Given the description of an element on the screen output the (x, y) to click on. 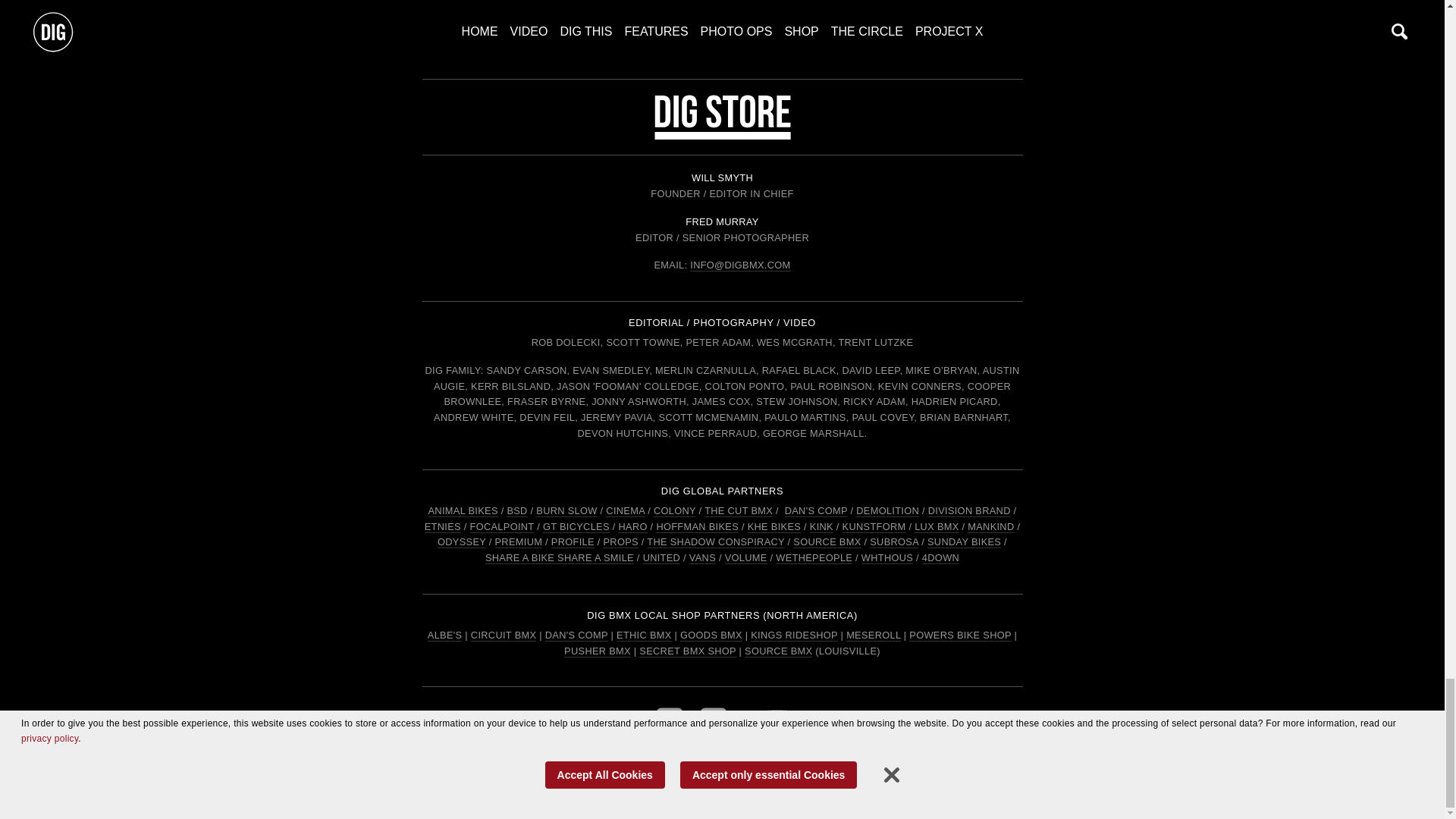
To the top (722, 9)
